Given the description of an element on the screen output the (x, y) to click on. 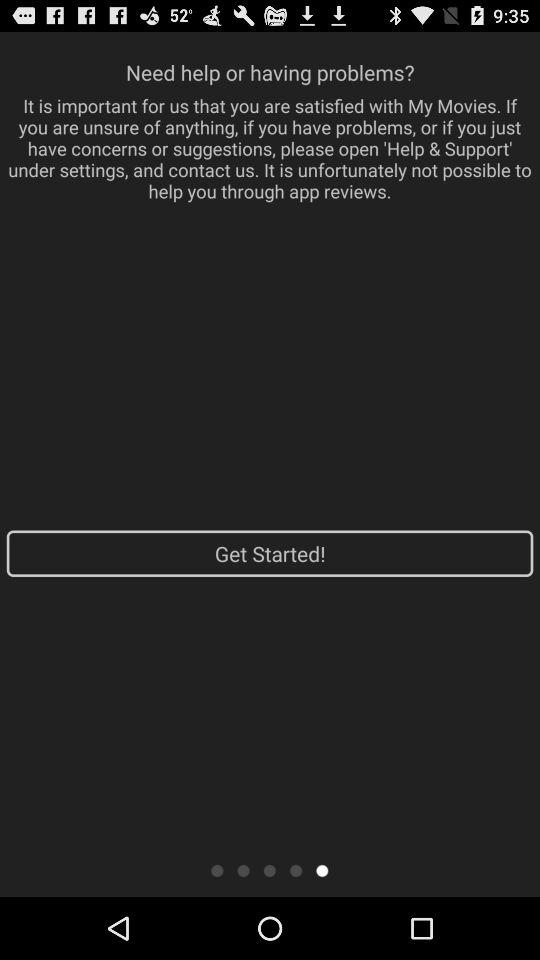
launch the icon below get started! icon (295, 870)
